Given the description of an element on the screen output the (x, y) to click on. 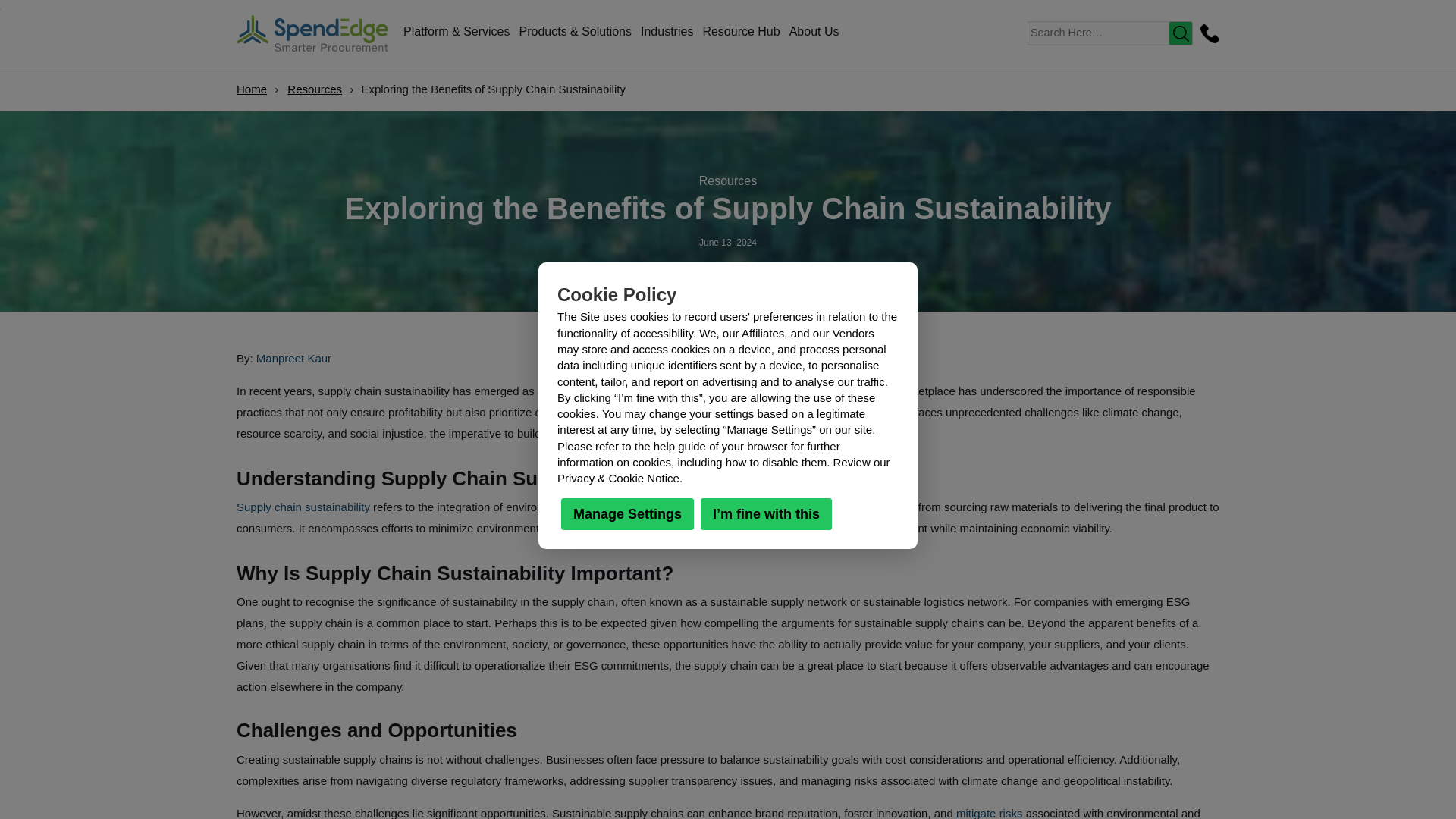
Contact Us (1206, 32)
Search (1180, 33)
Search (1180, 33)
